Given the description of an element on the screen output the (x, y) to click on. 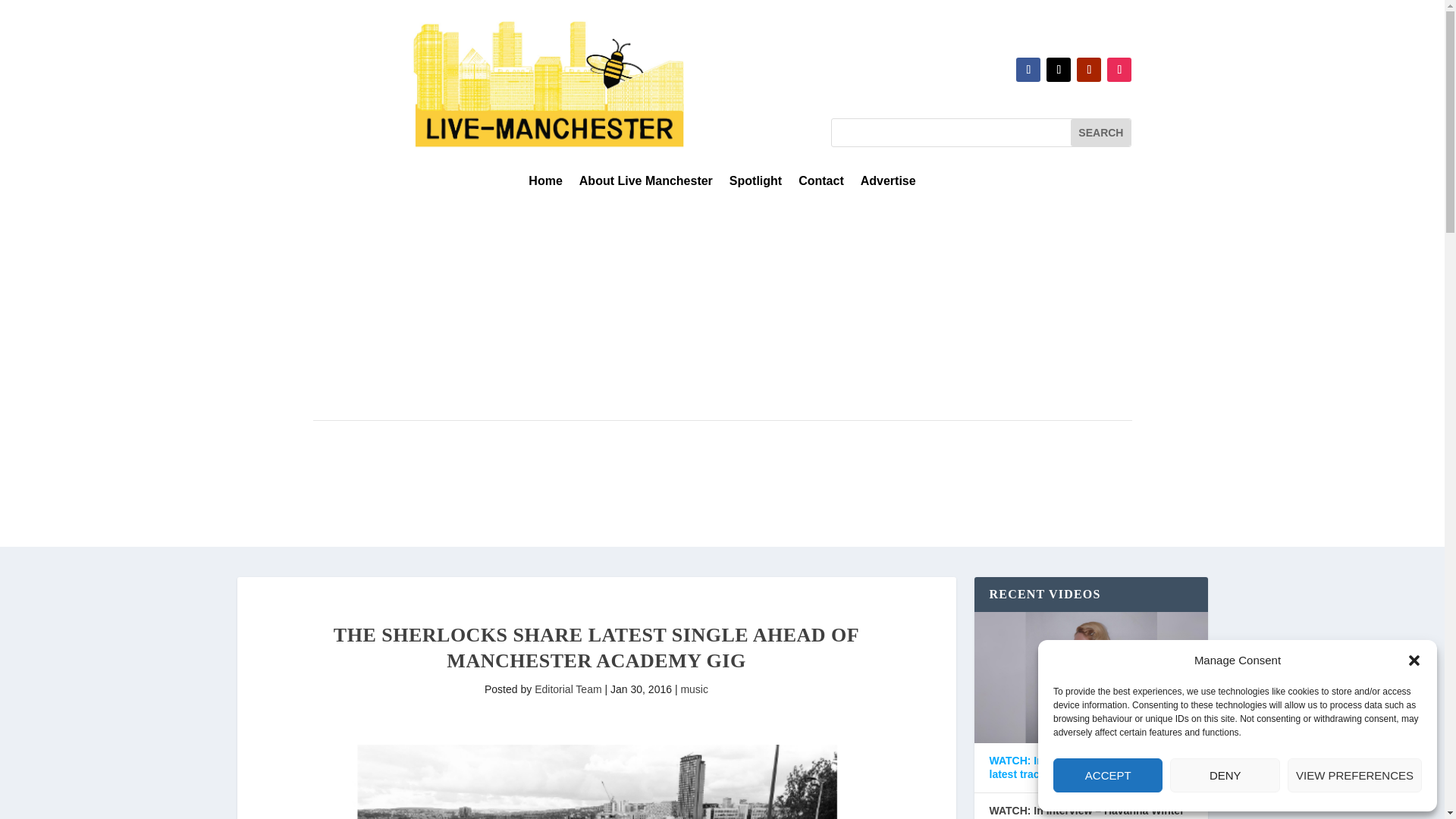
Follow on X (1058, 69)
Follow on Youtube (1088, 69)
ACCEPT (1106, 775)
About Live Manchester (646, 184)
Search (1100, 132)
Contact (820, 184)
Follow on Instagram (1118, 69)
Advertise (887, 184)
Live Manchester Banner (549, 83)
